Given the description of an element on the screen output the (x, y) to click on. 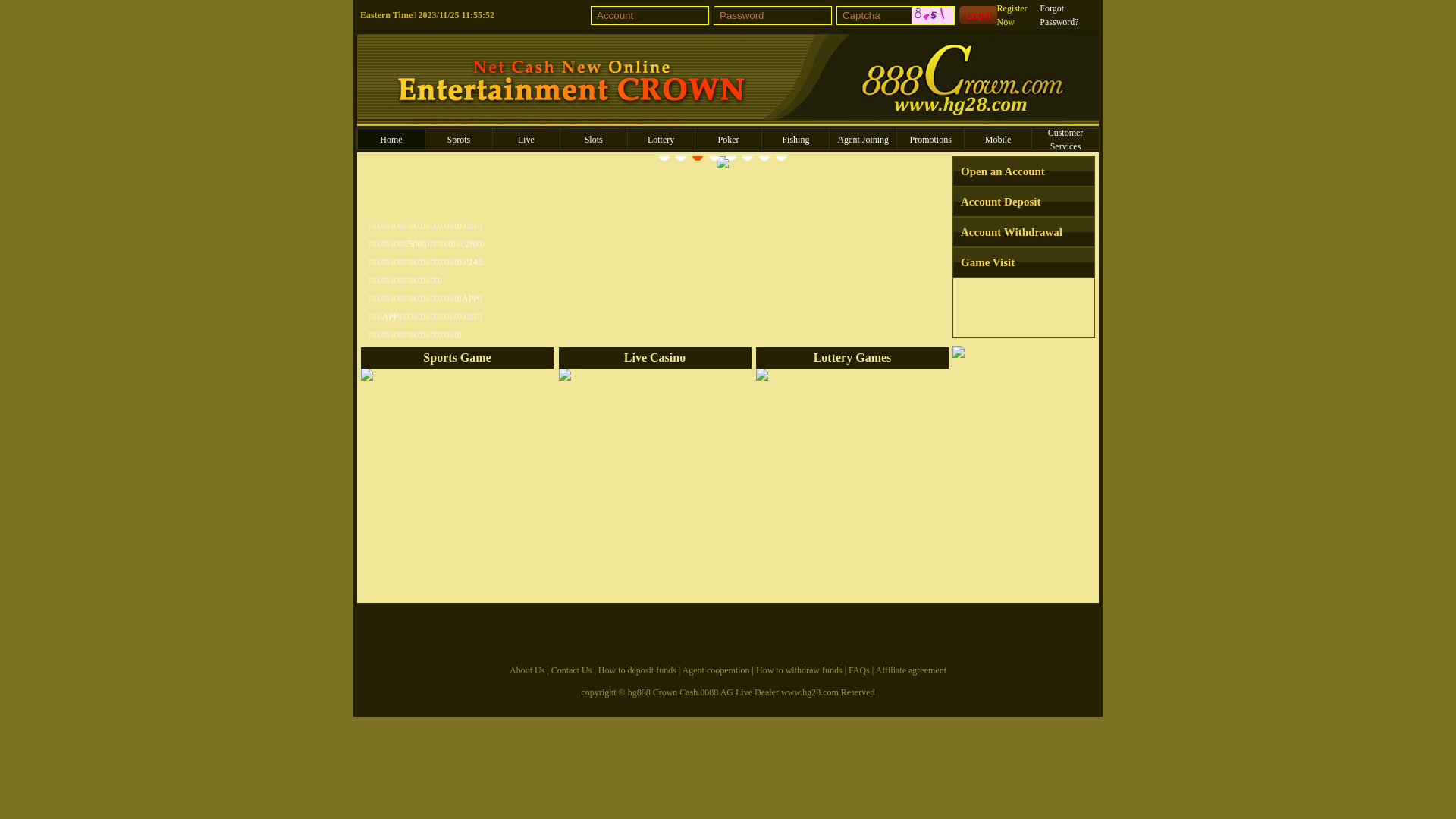
Sports Game Element type: text (456, 474)
Game Visit Element type: text (1023, 262)
Affiliate agreement Element type: text (910, 670)
Sprots Element type: text (458, 138)
Account Withdrawal Element type: text (1023, 231)
Fishing Element type: text (795, 138)
Lottery Games Element type: text (852, 474)
Agent Joining Element type: text (862, 138)
Lottery Element type: text (660, 138)
Live Casino Element type: text (654, 474)
About Us Element type: text (526, 670)
Forgot Password? Element type: text (1067, 14)
Register Now Element type: text (1018, 14)
Agent cooperation Element type: text (715, 670)
Promotions Element type: text (930, 138)
Mobile Element type: text (997, 138)
FAQs Element type: text (858, 670)
Open an Account Element type: text (1023, 171)
Poker Element type: text (728, 138)
How to deposit funds Element type: text (637, 670)
Contact Us Element type: text (571, 670)
Account Deposit Element type: text (1023, 201)
How to withdraw funds Element type: text (799, 670)
Login Element type: text (978, 15)
Live Element type: text (525, 138)
Customer Services Element type: text (1065, 138)
Slots Element type: text (593, 138)
Home Element type: text (390, 138)
